Given the description of an element on the screen output the (x, y) to click on. 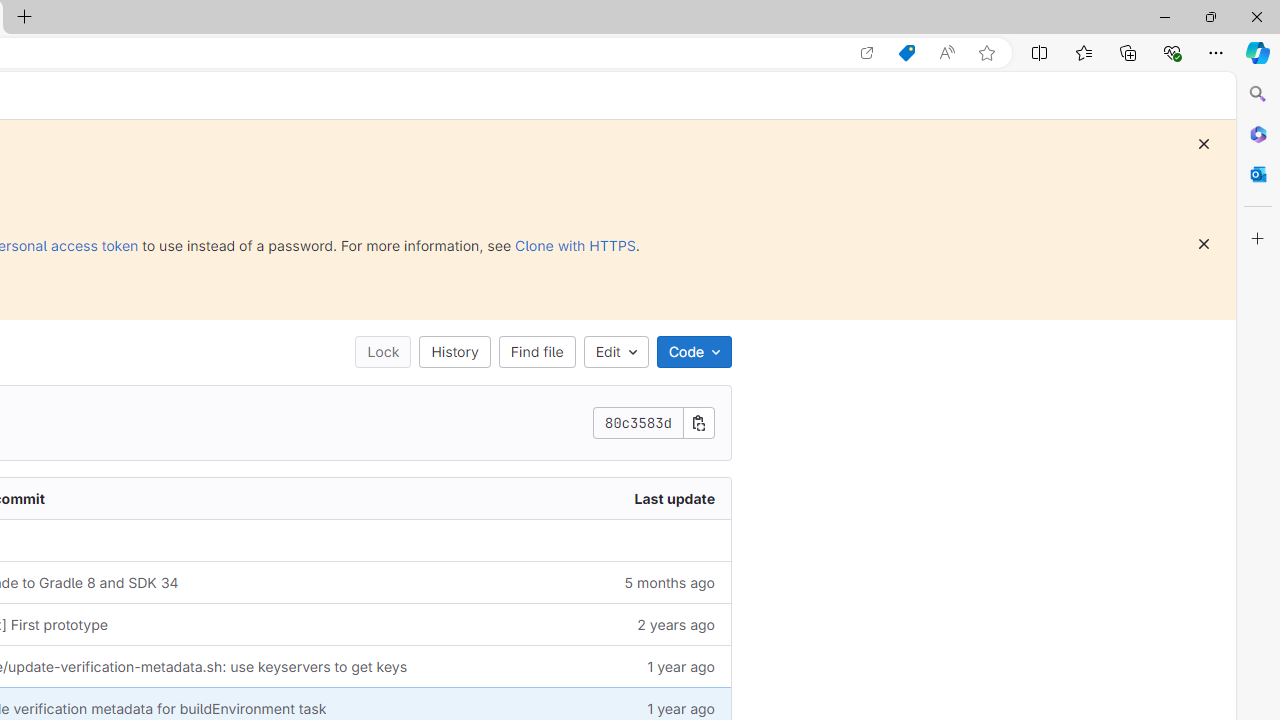
Copy commit SHA (699, 422)
